Given the description of an element on the screen output the (x, y) to click on. 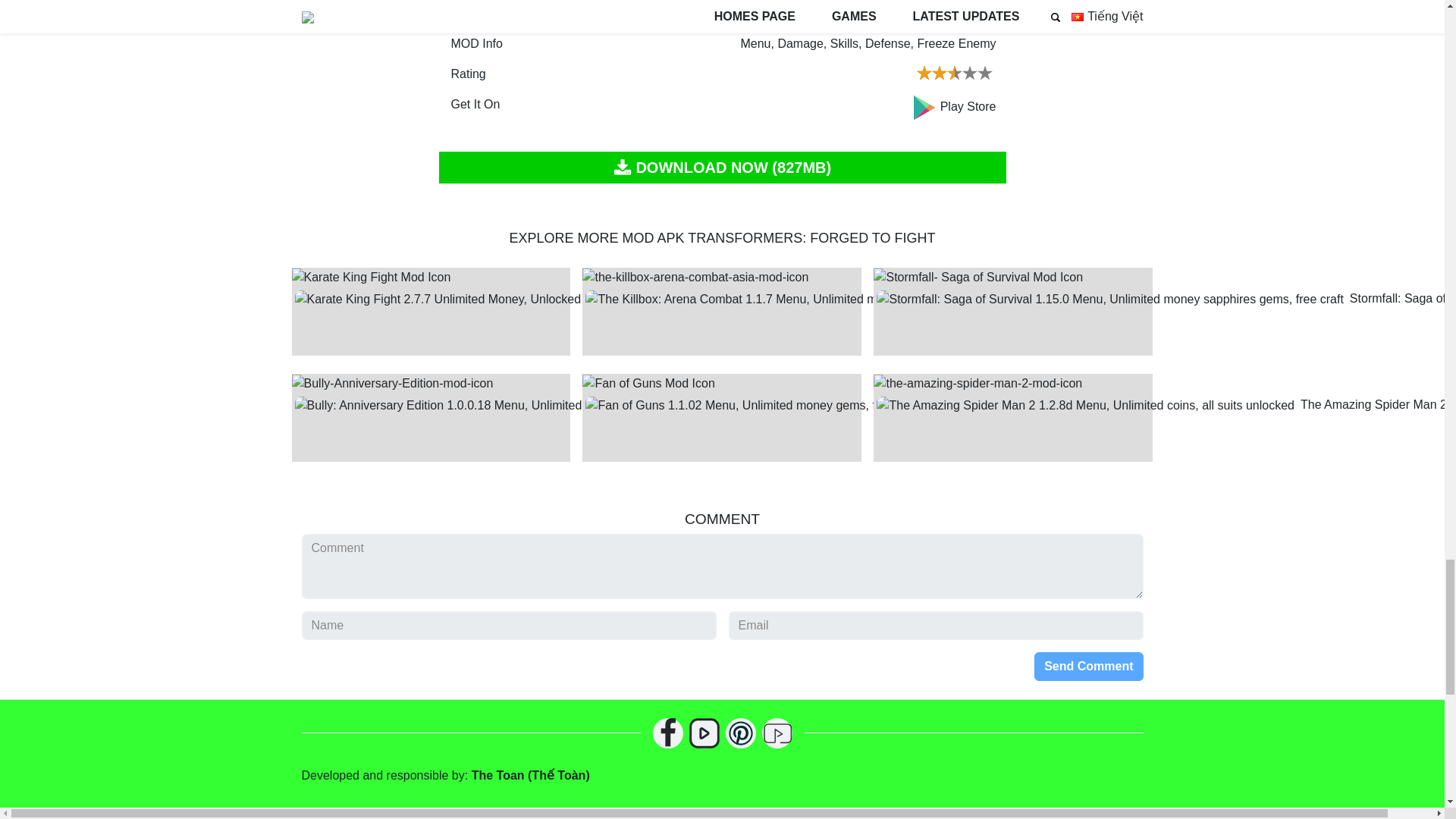
Stormfall: Saga of Survival (1013, 311)
Play Store (953, 106)
Bully: Anniversary Edition 1.0.0.18  Menu, Unlimited Money (430, 417)
Karate King Fight (430, 311)
The Amazing Spider Man 2 (1013, 417)
Send Comment (1087, 665)
The Killbox: Arena Combat (721, 311)
